Given the description of an element on the screen output the (x, y) to click on. 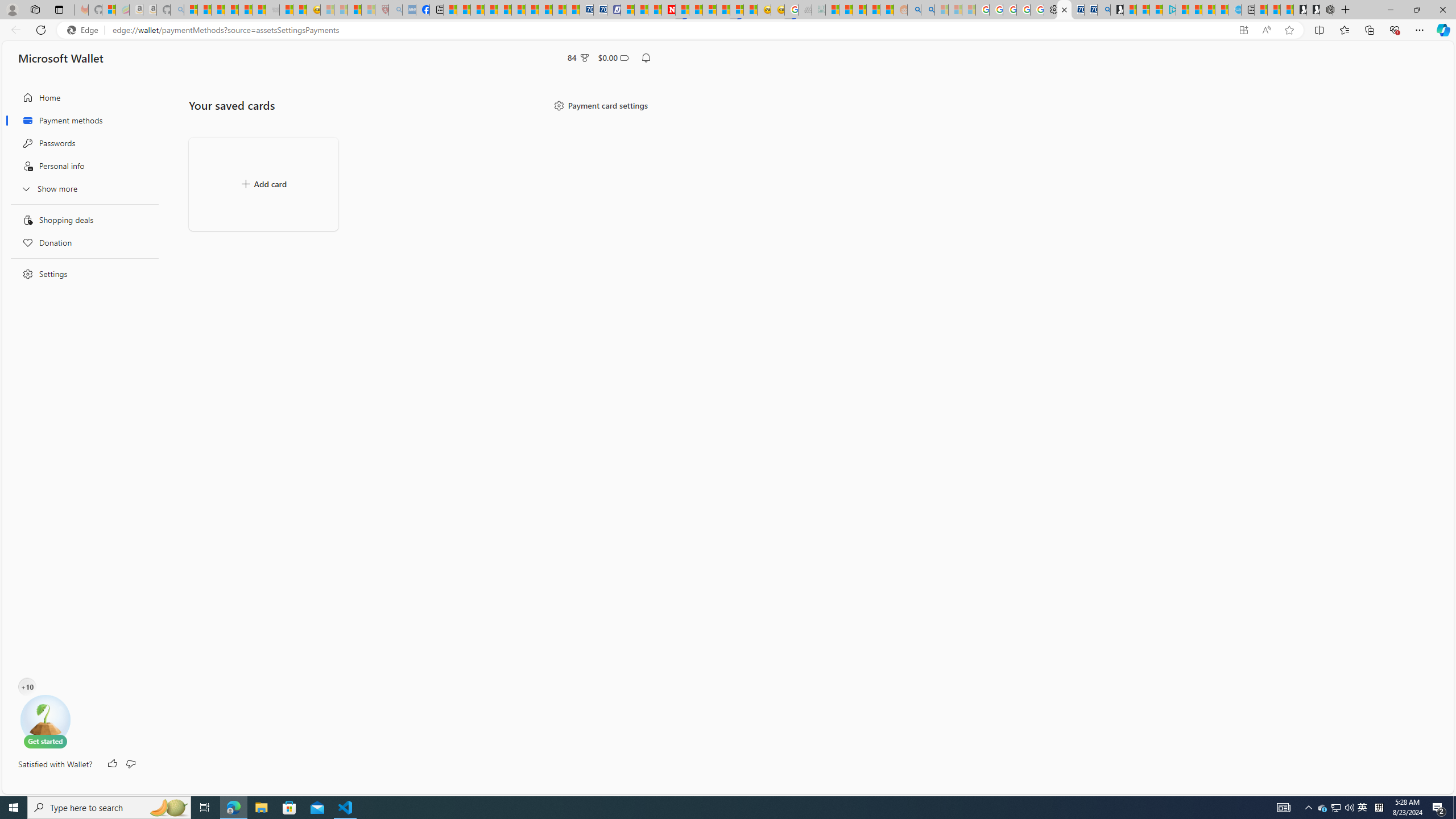
Edge (84, 29)
Combat Siege - Sleeping (271, 9)
